Given the description of an element on the screen output the (x, y) to click on. 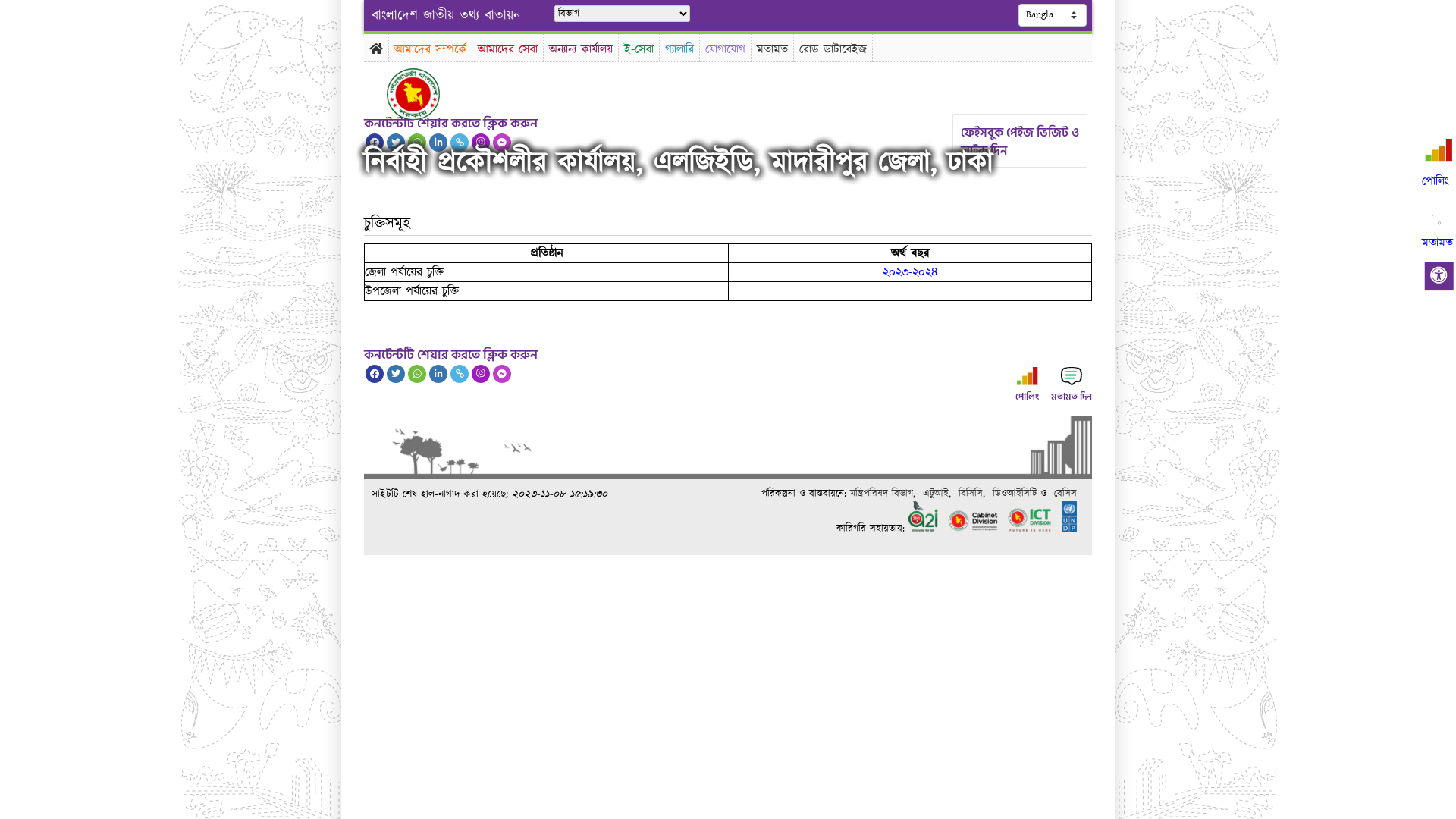

                
             Element type: hover (426, 93)
